Given the description of an element on the screen output the (x, y) to click on. 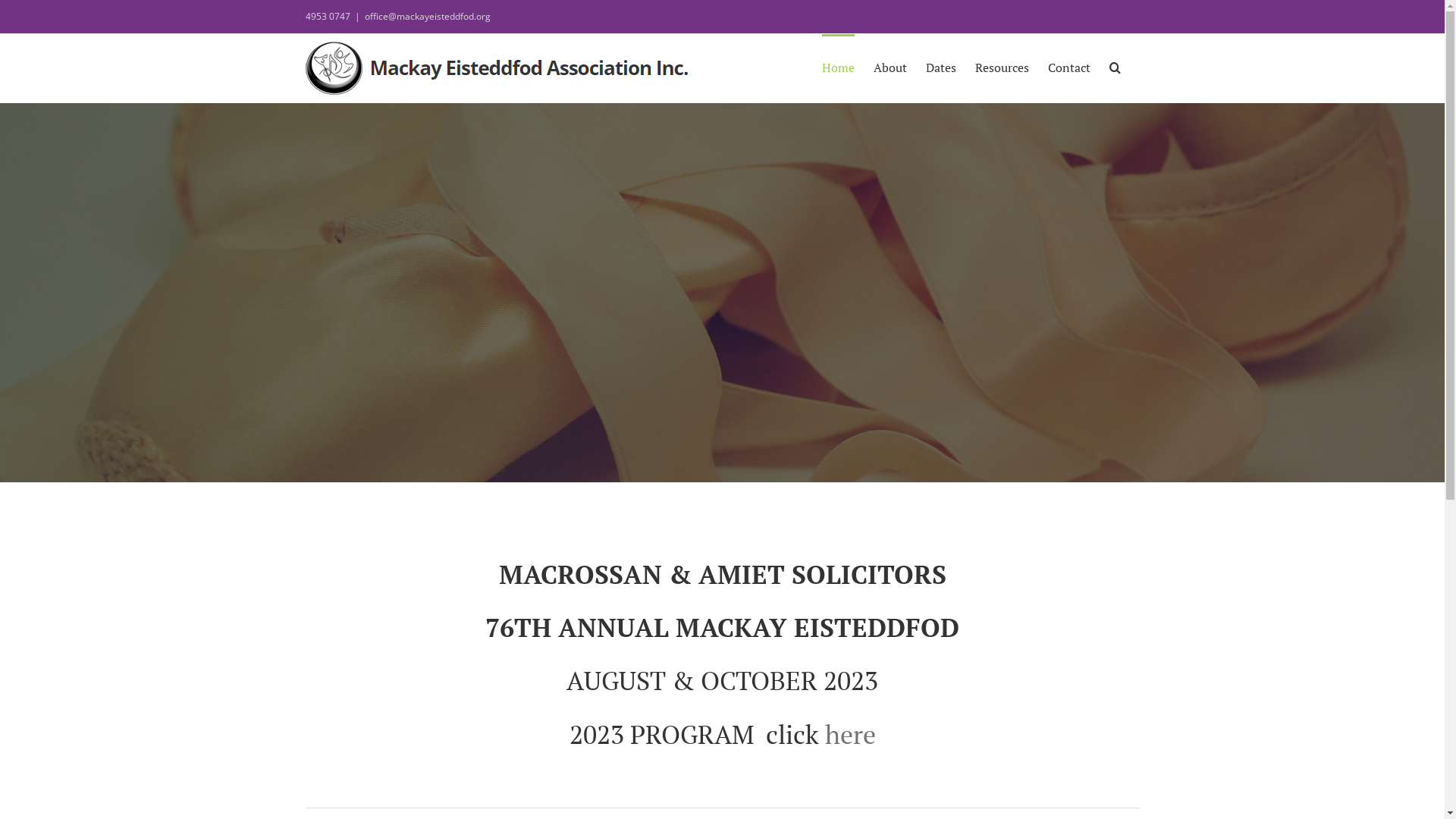
4953 0747 Element type: text (326, 15)
Dates Element type: text (940, 65)
here Element type: text (850, 734)
About Element type: text (889, 65)
Home Element type: text (838, 65)
office@mackayeisteddfod.org Element type: text (426, 15)
Resources Element type: text (1002, 65)
Search Element type: hover (1114, 65)
Contact Element type: text (1069, 65)
